Given the description of an element on the screen output the (x, y) to click on. 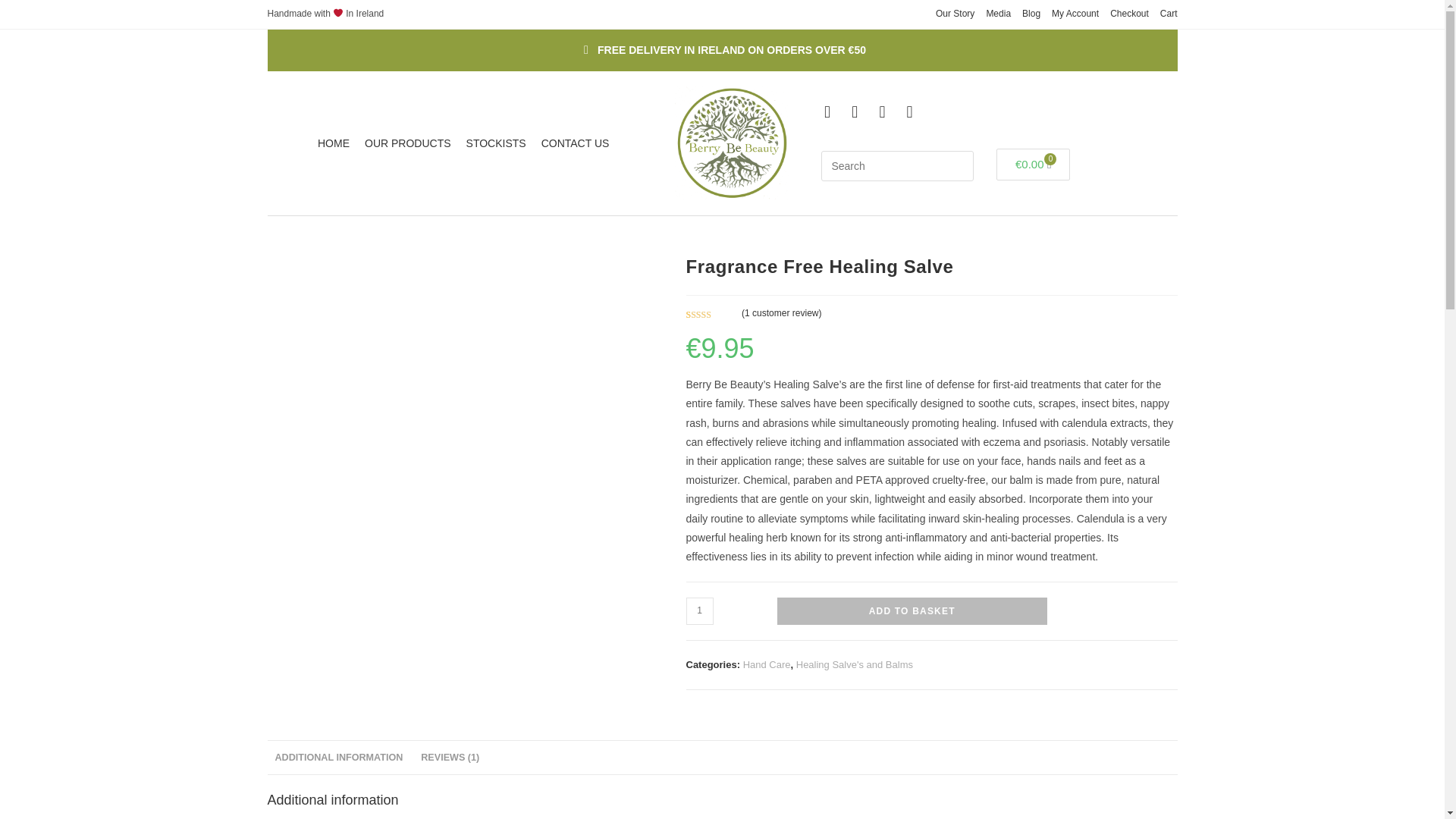
Cart (1168, 13)
Our Story (955, 13)
1 (699, 610)
Media (997, 13)
STOCKISTS (496, 143)
Checkout (1128, 13)
HOME (333, 143)
OUR PRODUCTS (407, 143)
CONTACT US (575, 143)
Blog (1031, 13)
